Given the description of an element on the screen output the (x, y) to click on. 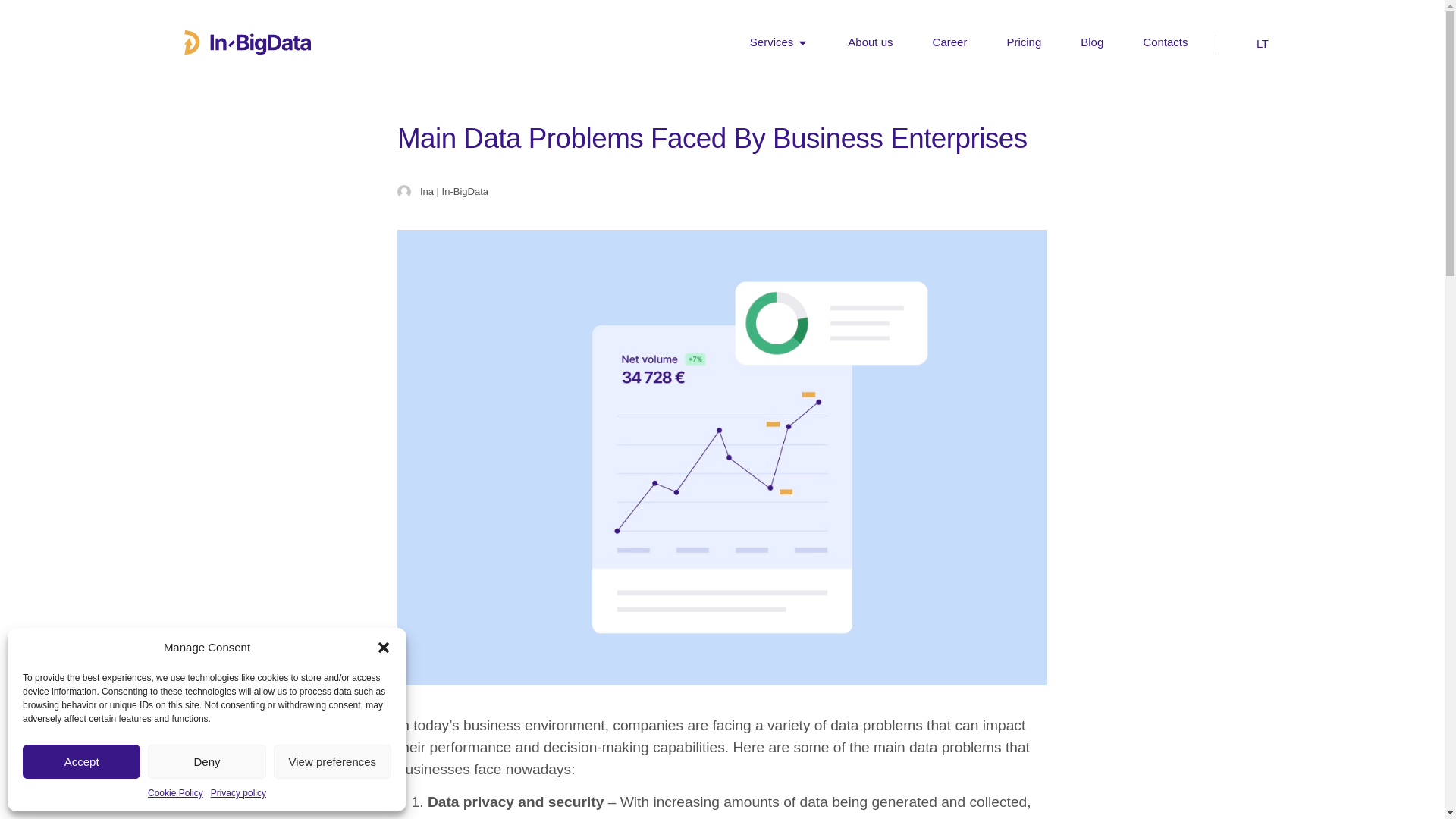
About us (869, 42)
Contacts (1165, 42)
Career (950, 42)
Cookie Policy (175, 793)
LT (1258, 42)
Pricing (1023, 42)
Accept (81, 761)
Privacy policy (238, 793)
Deny (206, 761)
Services (771, 42)
View preferences (332, 761)
Blog (1091, 42)
